Given the description of an element on the screen output the (x, y) to click on. 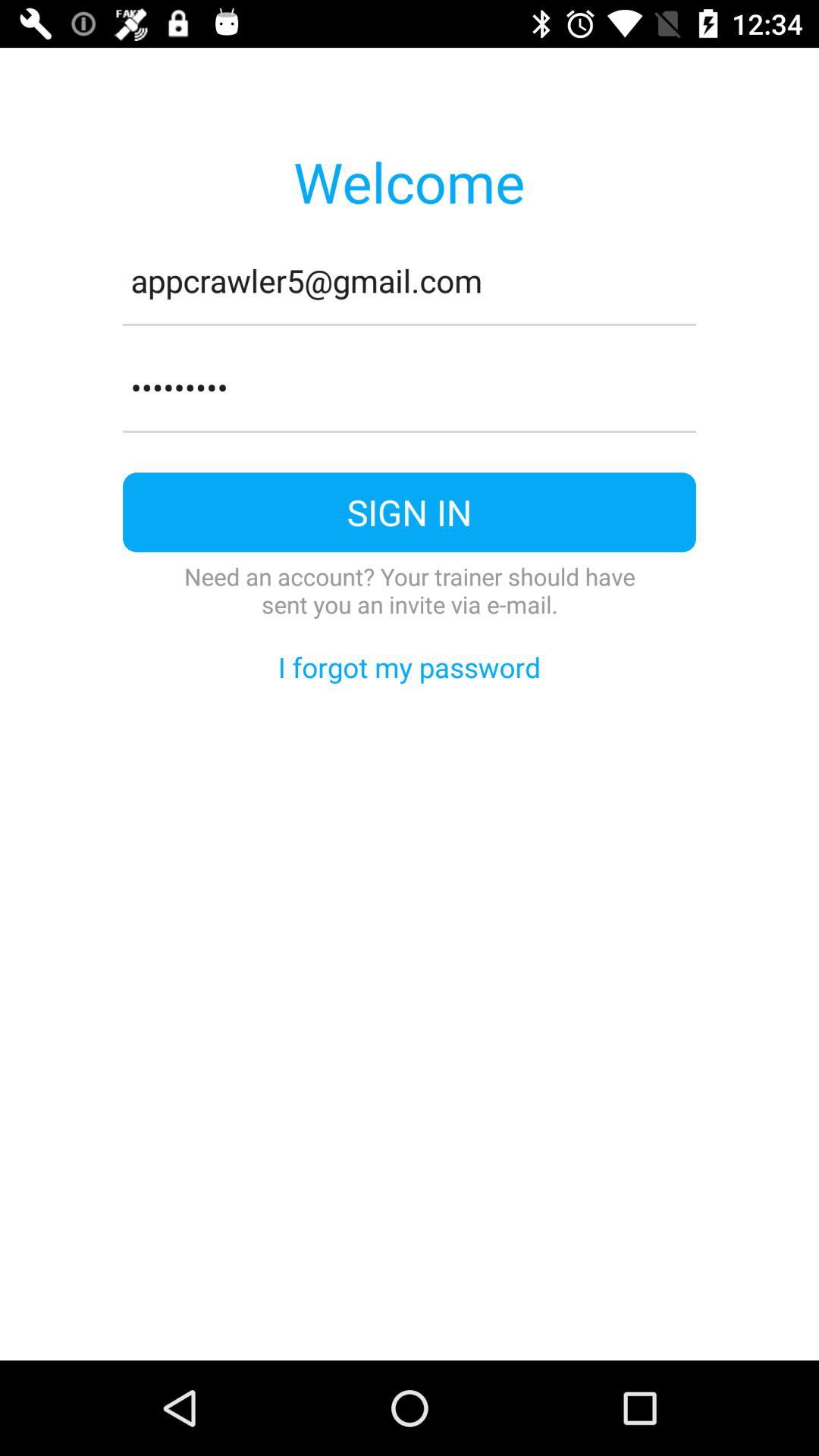
jump until the welcome icon (408, 181)
